Given the description of an element on the screen output the (x, y) to click on. 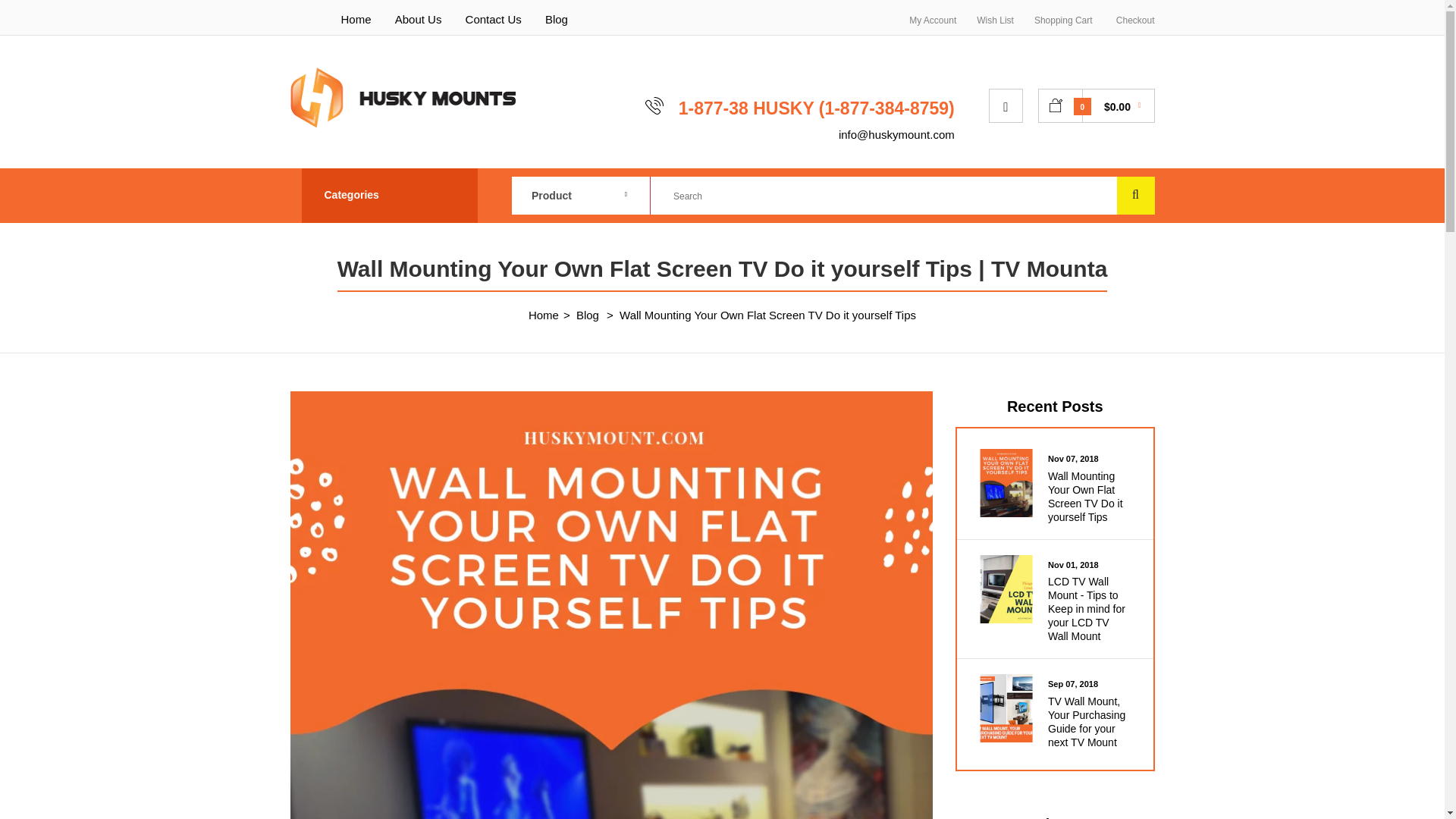
Checkout (1135, 20)
Blog (555, 19)
About Us (418, 19)
Contact Us (493, 19)
Blog (587, 314)
Shopping Cart (1063, 20)
My Account (932, 20)
Husky Mounts (402, 123)
Home (355, 19)
Wish List (994, 20)
Husky Mounts (402, 97)
Home (543, 314)
